Given the description of an element on the screen output the (x, y) to click on. 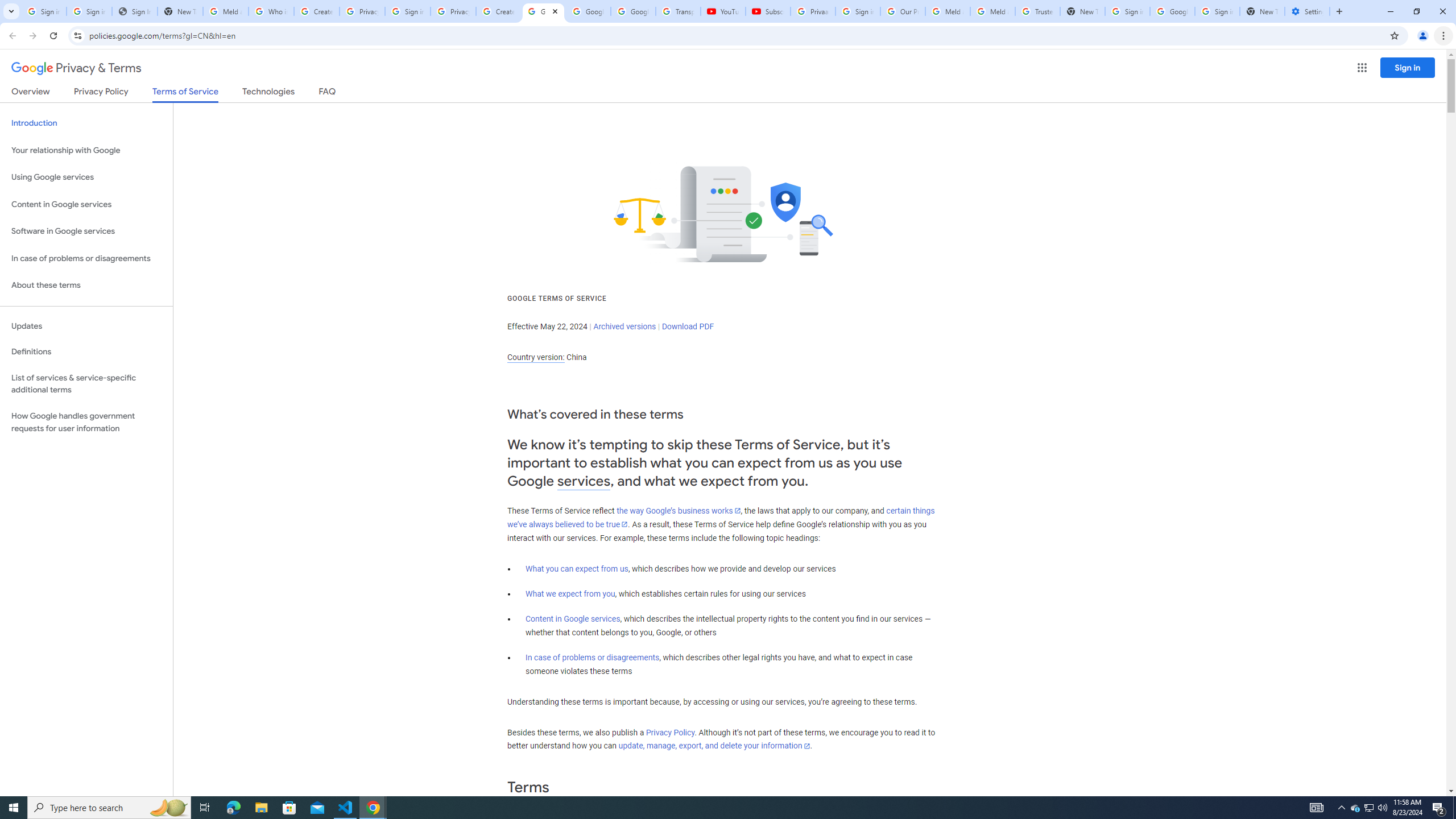
Who is my administrator? - Google Account Help (270, 11)
Introduction (86, 122)
Create your Google Account (497, 11)
Subscriptions - YouTube (767, 11)
Sign in - Google Accounts (407, 11)
New Tab (1262, 11)
What we expect from you (570, 593)
Trusted Information and Content - Google Safety Center (1037, 11)
